Given the description of an element on the screen output the (x, y) to click on. 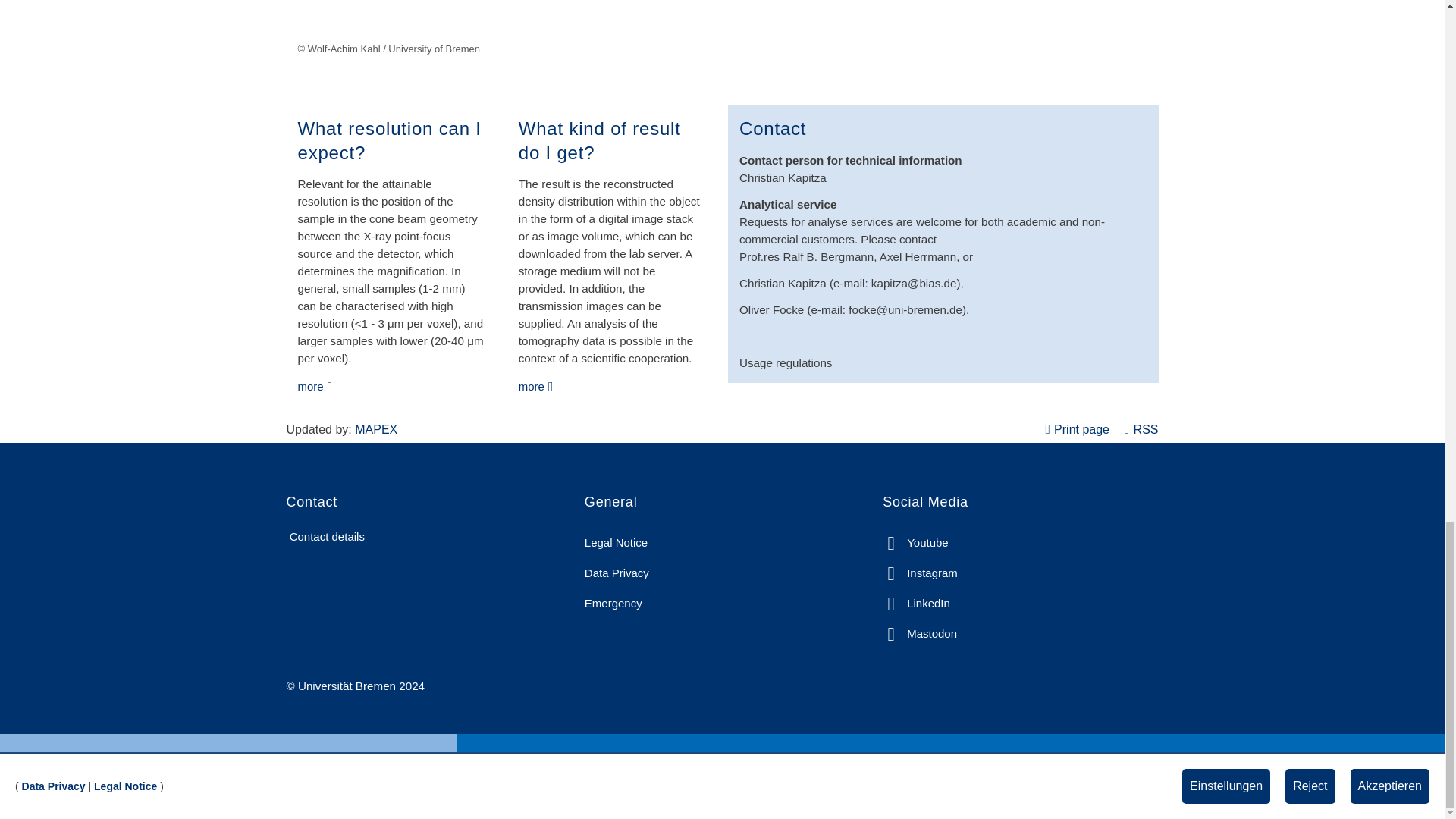
Seite als RSS Feed (1140, 429)
Open link to Instagram in a new window (920, 572)
Open link to Mastodon in a new window (919, 633)
more (599, 139)
Open link to Linked In in a new window (916, 603)
more (388, 139)
